Given the description of an element on the screen output the (x, y) to click on. 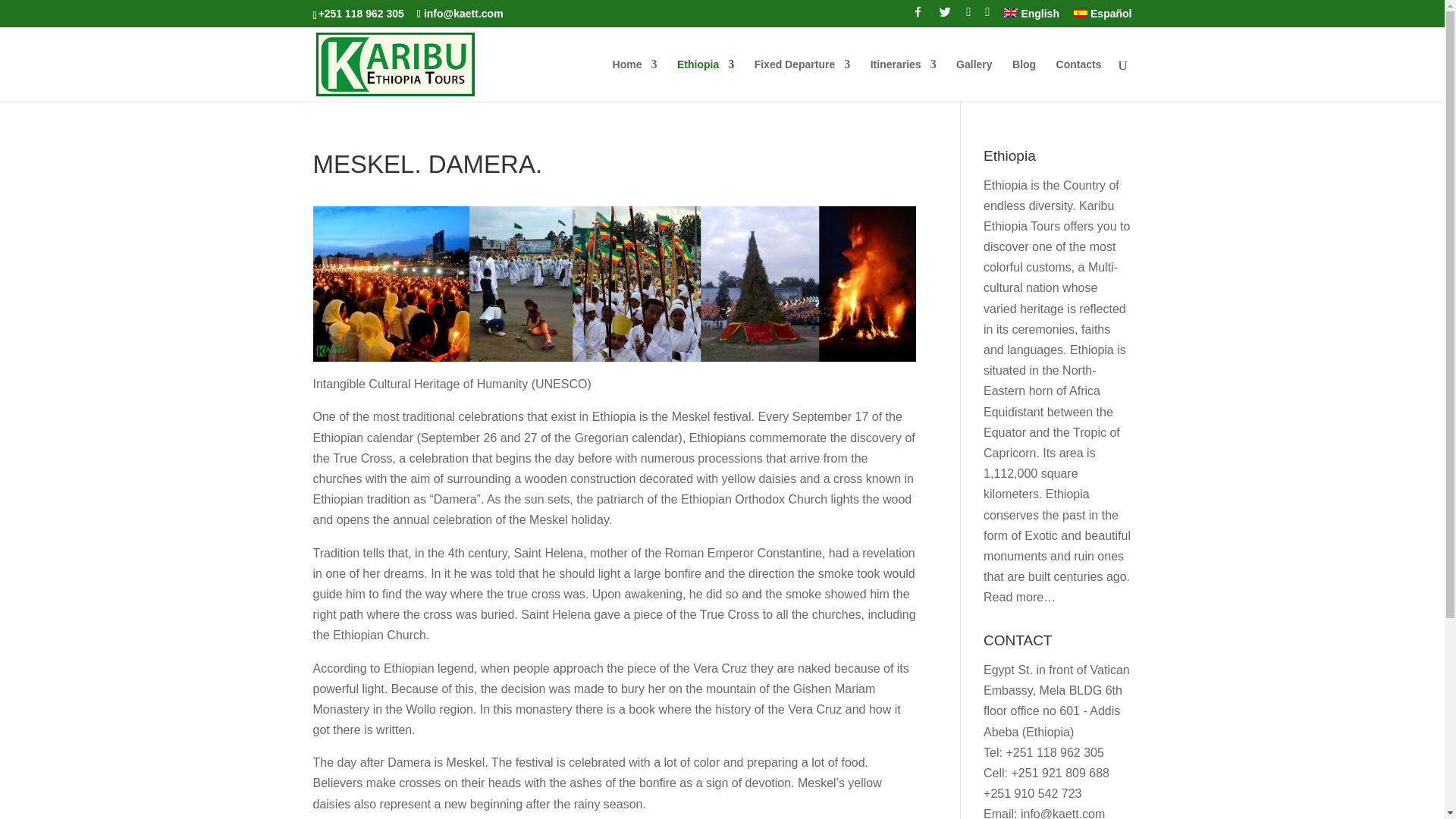
English (1031, 16)
Home (635, 79)
Ethiopia (705, 79)
English (1031, 16)
